Given the description of an element on the screen output the (x, y) to click on. 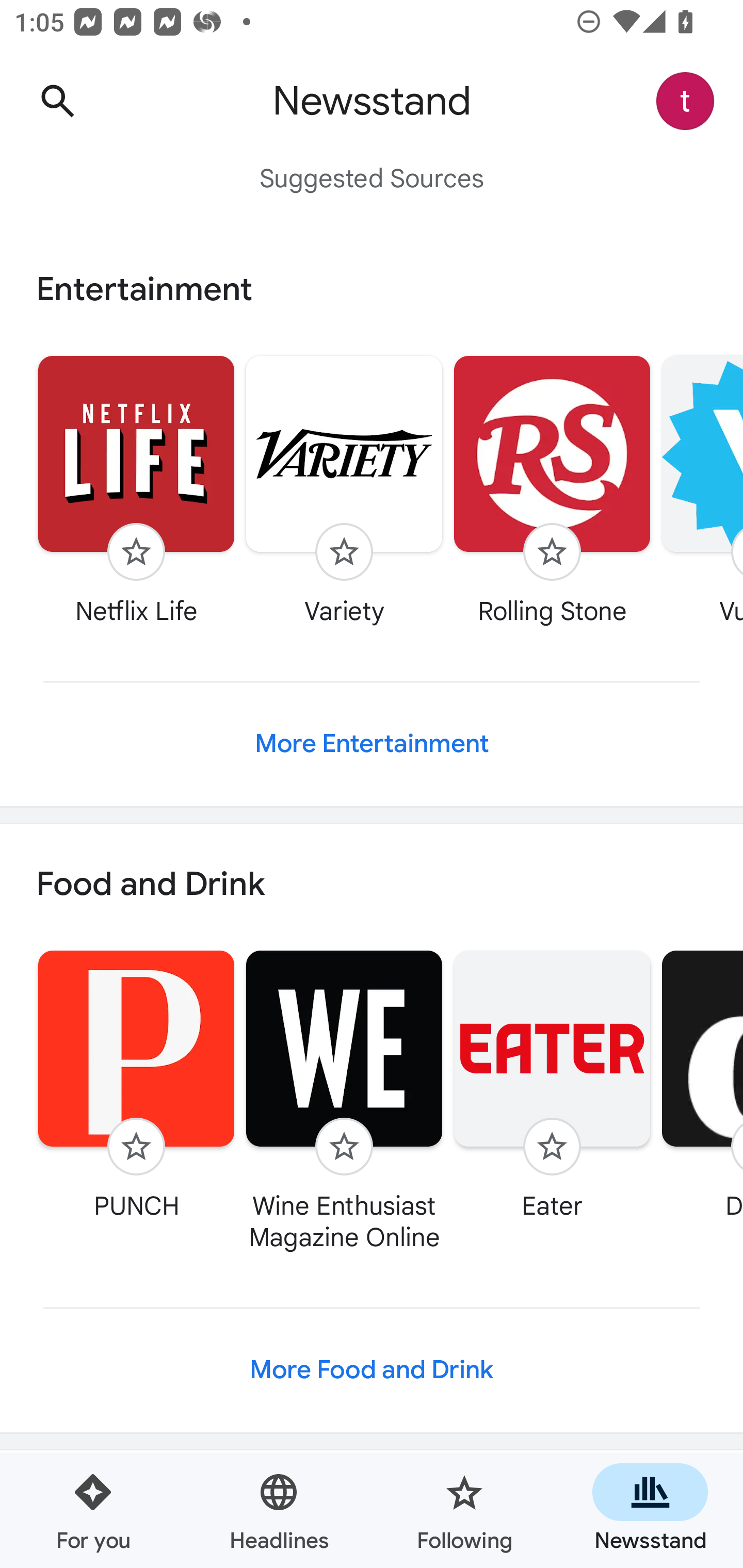
Search (57, 100)
Entertainment (371, 288)
Follow Netflix Life (136, 489)
Follow Variety (344, 489)
Follow Rolling Stone (552, 489)
Follow (135, 551)
Follow (343, 551)
Follow (552, 551)
More Entertainment (371, 743)
Food and Drink (371, 884)
Follow PUNCH (136, 1084)
Follow Wine Enthusiast Magazine Online (344, 1100)
Follow Eater (552, 1084)
Follow (135, 1146)
Follow (343, 1146)
Follow (552, 1146)
More Food and Drink (371, 1369)
Health and Fitness (371, 1509)
For you (92, 1509)
Headlines (278, 1509)
Following (464, 1509)
Newsstand (650, 1509)
